Given the description of an element on the screen output the (x, y) to click on. 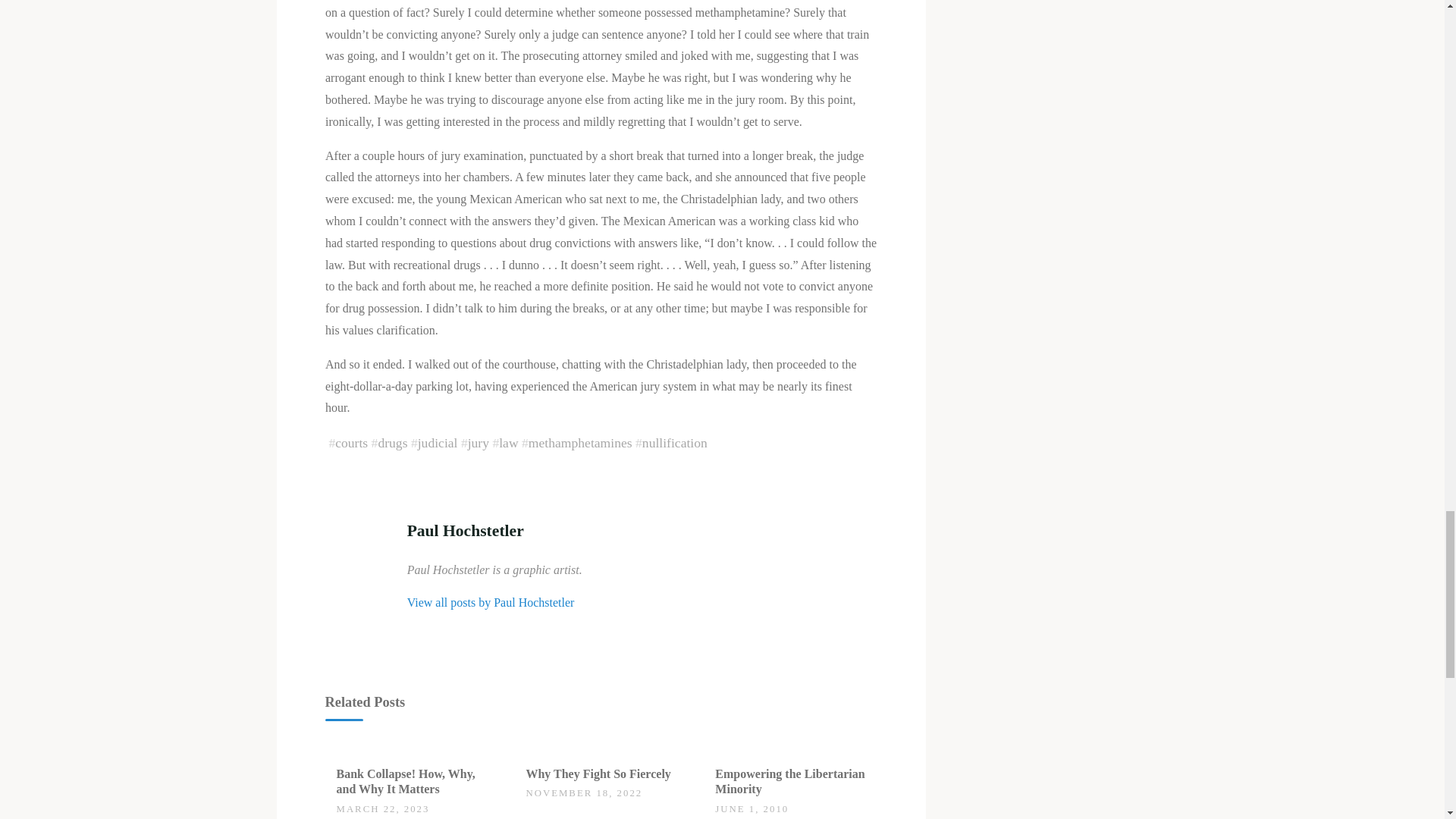
law (508, 442)
Bank Collapse! How, Why, and Why It Matters (406, 781)
courts (351, 442)
jury (477, 442)
judicial (436, 442)
drugs (392, 442)
